Given the description of an element on the screen output the (x, y) to click on. 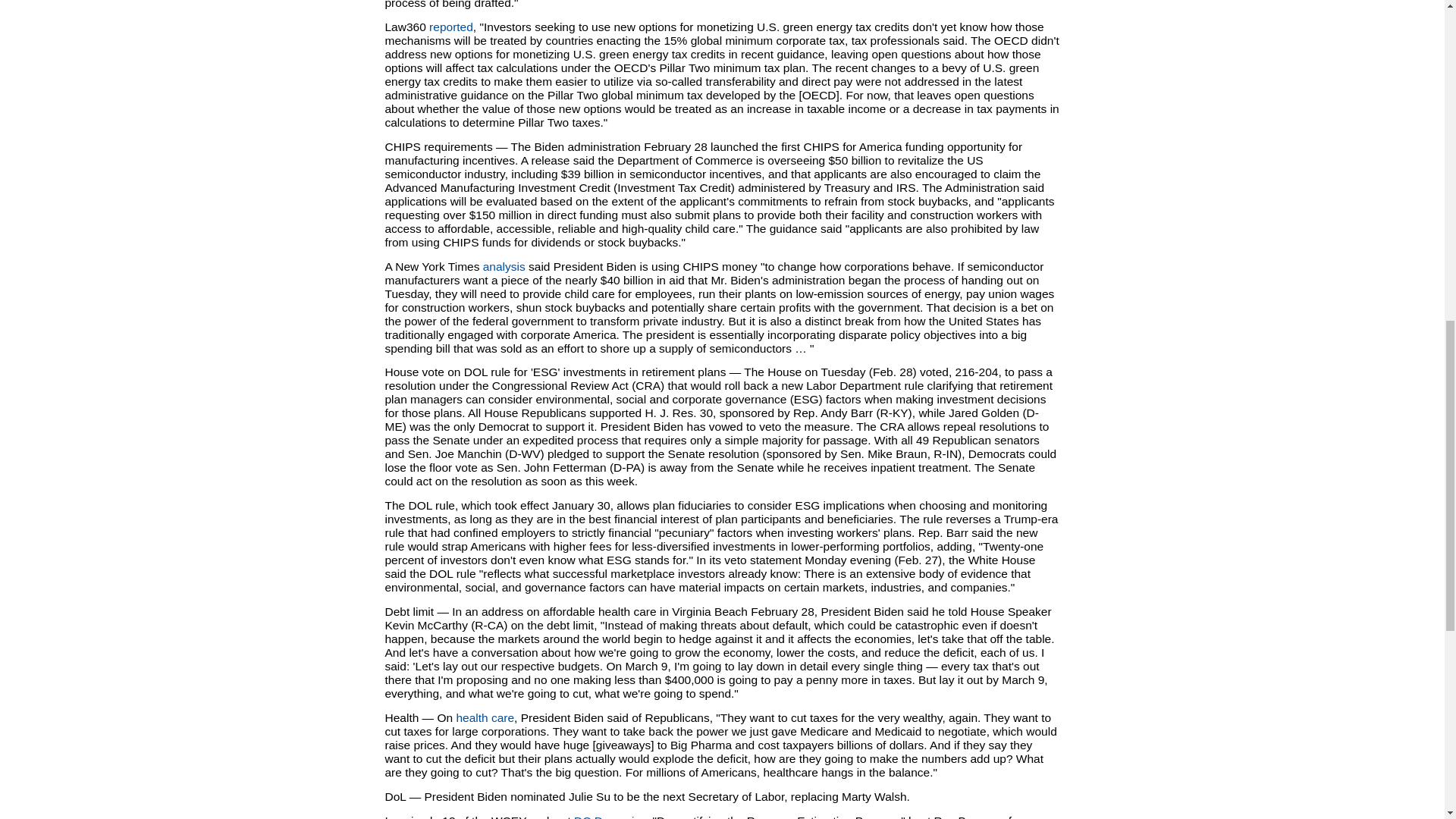
analysis (504, 266)
health care (484, 717)
DC Dynamics (609, 816)
reported (451, 26)
